Given the description of an element on the screen output the (x, y) to click on. 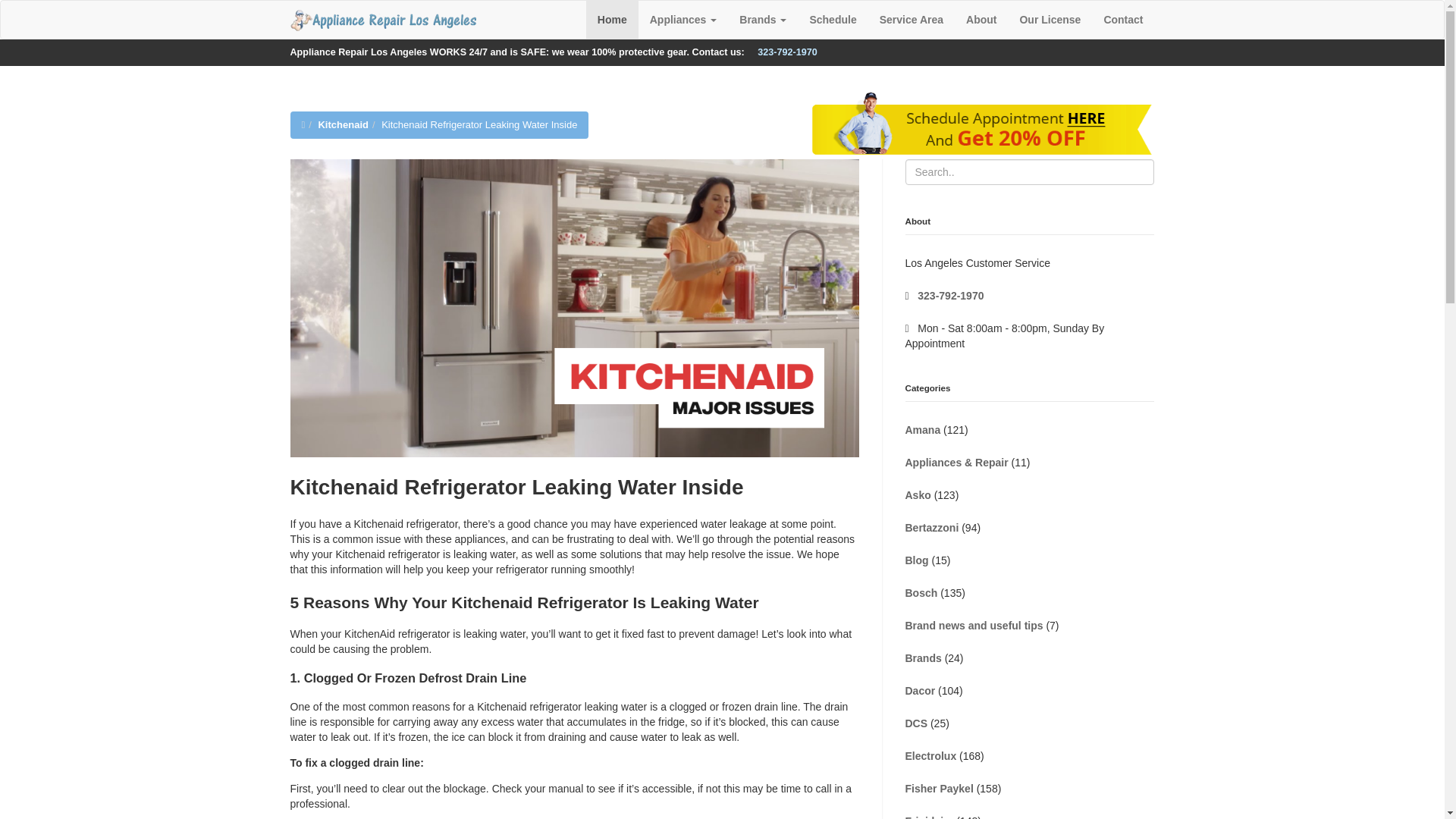
Appliance Repair Service Los Angeles (382, 19)
Service Area (911, 19)
Schedule (832, 19)
Appliances (684, 19)
Appliance Repair Service Los Angeles (383, 19)
Home (612, 19)
About (981, 19)
Brands (762, 19)
